Given the description of an element on the screen output the (x, y) to click on. 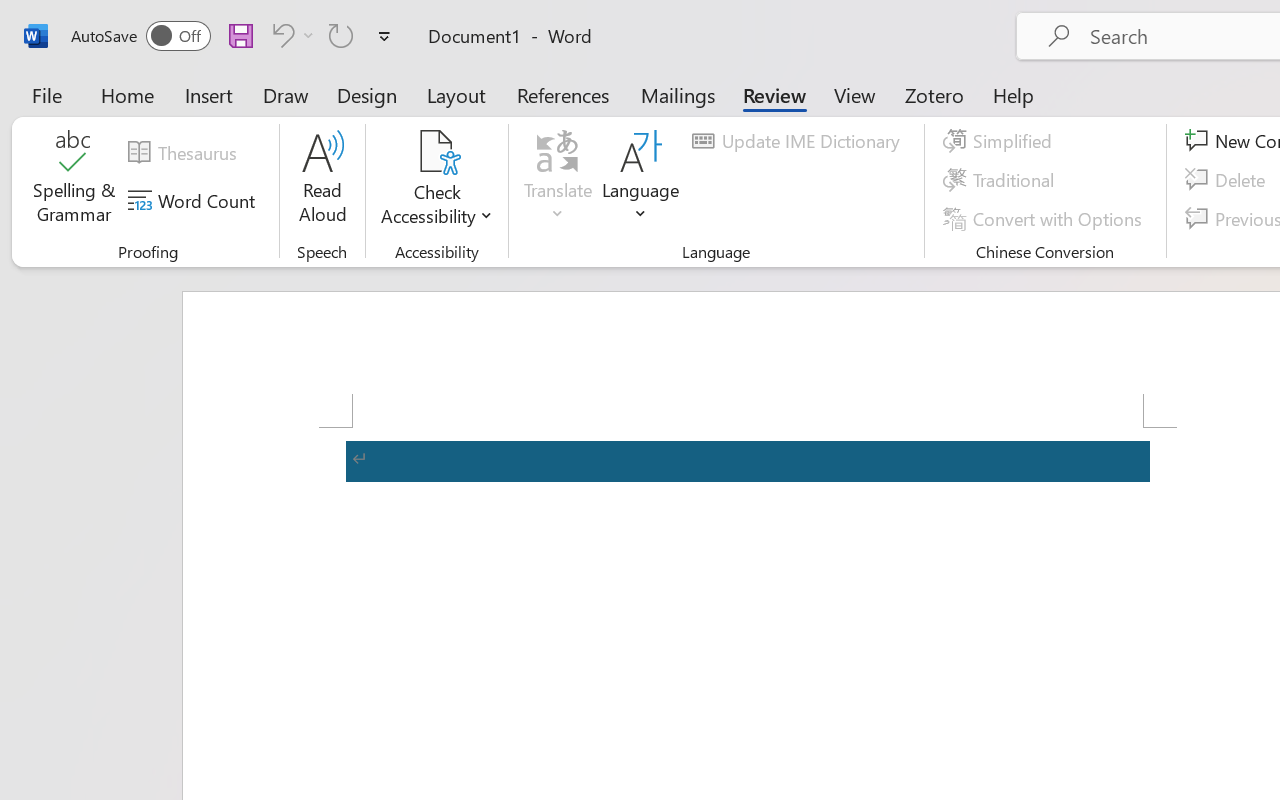
Check Accessibility (436, 151)
Language (641, 179)
